Given the description of an element on the screen output the (x, y) to click on. 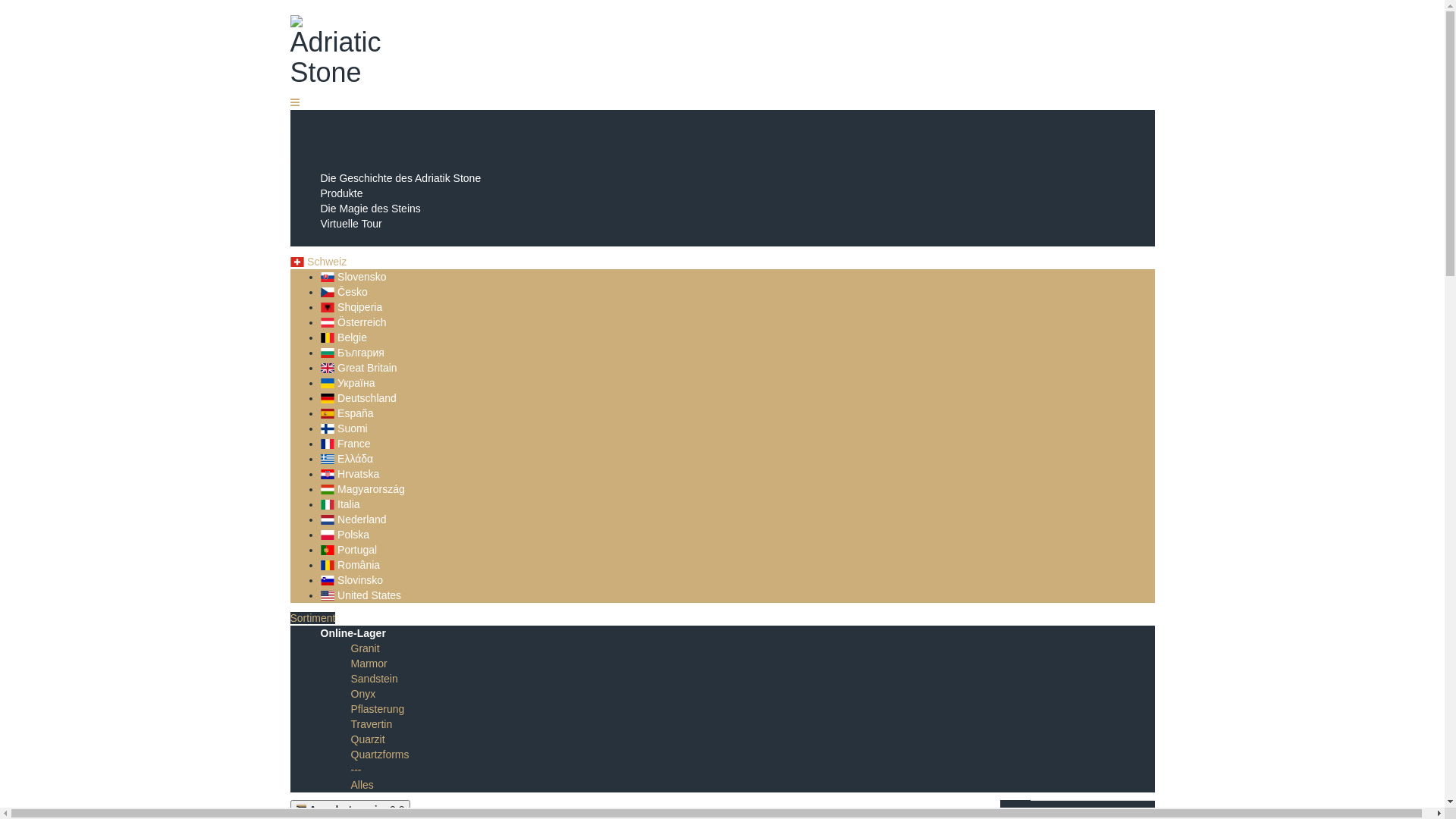
Travertin Element type: text (371, 724)
 Slovinsko Element type: text (351, 580)
Alles Element type: text (361, 784)
 Polska Element type: text (344, 534)
 Nederland Element type: text (352, 519)
Kontakte Element type: text (310, 238)
 Deutschland Element type: text (357, 398)
 Hrvatska Element type: text (349, 473)
 Italia Element type: text (339, 504)
Die Magie des Steins Element type: text (370, 208)
Sortiment Element type: text (312, 617)
Produkte Element type: text (341, 193)
 United States Element type: text (360, 595)
Die Geschichte des Adriatik Stone Element type: text (400, 178)
--- Element type: text (355, 769)
Onyx Element type: text (362, 693)
Granit Element type: text (364, 648)
 Suomi Element type: text (343, 428)
Quarzit Element type: text (367, 739)
 Great Britain Element type: text (358, 367)
Startseite Element type: text (311, 117)
Sandstein Element type: text (373, 678)
Quartzforms Element type: text (379, 754)
Pflasterung Element type: text (377, 708)
Online-Lager Element type: text (321, 132)
Schweiz Element type: text (317, 261)
 Belgie Element type: text (343, 337)
Online-Lager Element type: text (352, 633)
Virtuelle Tour Element type: text (350, 223)
 Portugal Element type: text (348, 549)
Marmor Element type: text (368, 663)
 France Element type: text (345, 443)
Inspirationen Element type: text (319, 147)
 Slovensko Element type: text (352, 276)
 Shqiperia Element type: text (351, 307)
